Given the description of an element on the screen output the (x, y) to click on. 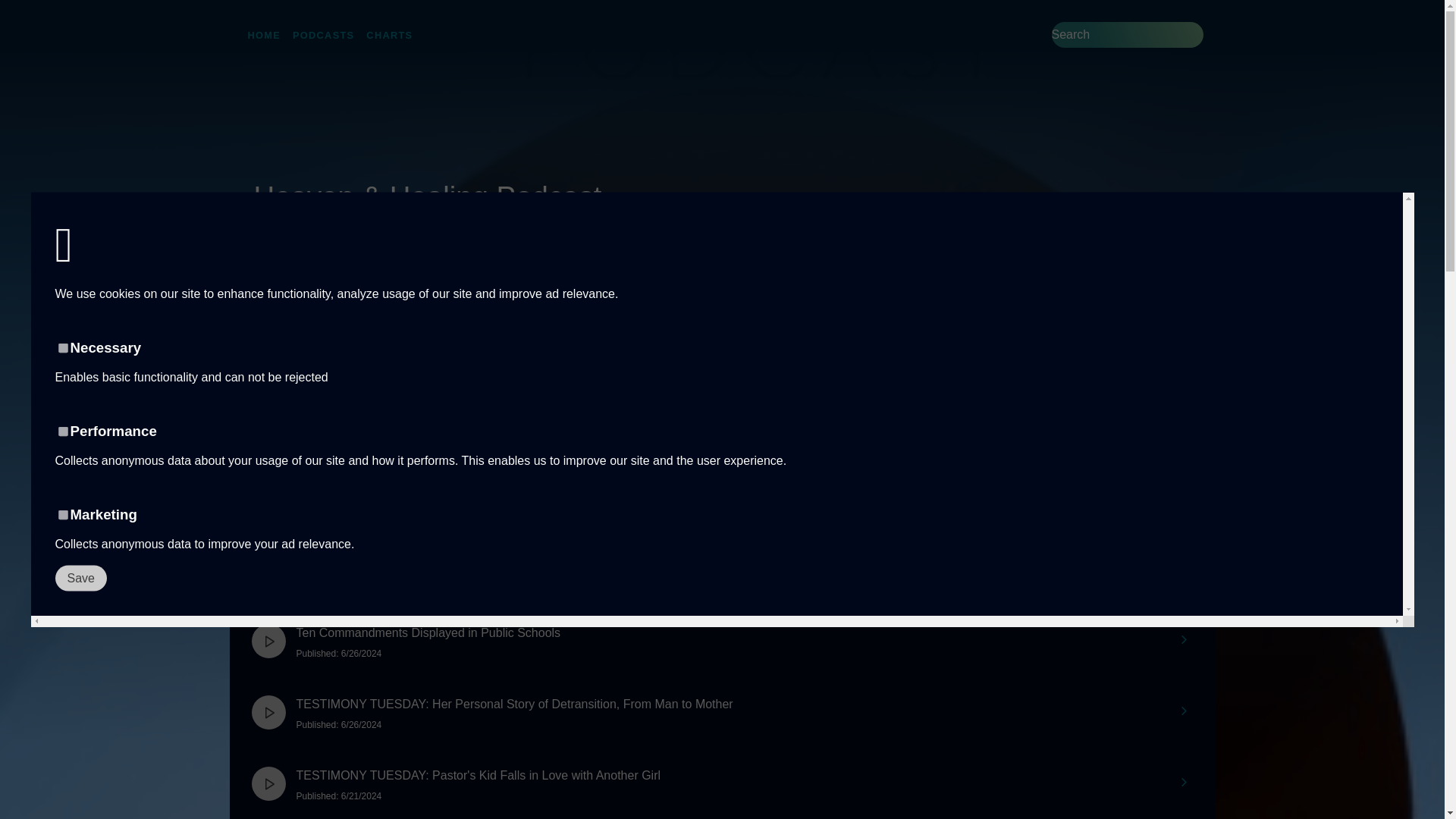
Save (1144, 270)
on (62, 430)
PODCASTS (322, 34)
CHARTS (389, 34)
on (62, 514)
Play latest (563, 280)
HOME (263, 34)
